Given the description of an element on the screen output the (x, y) to click on. 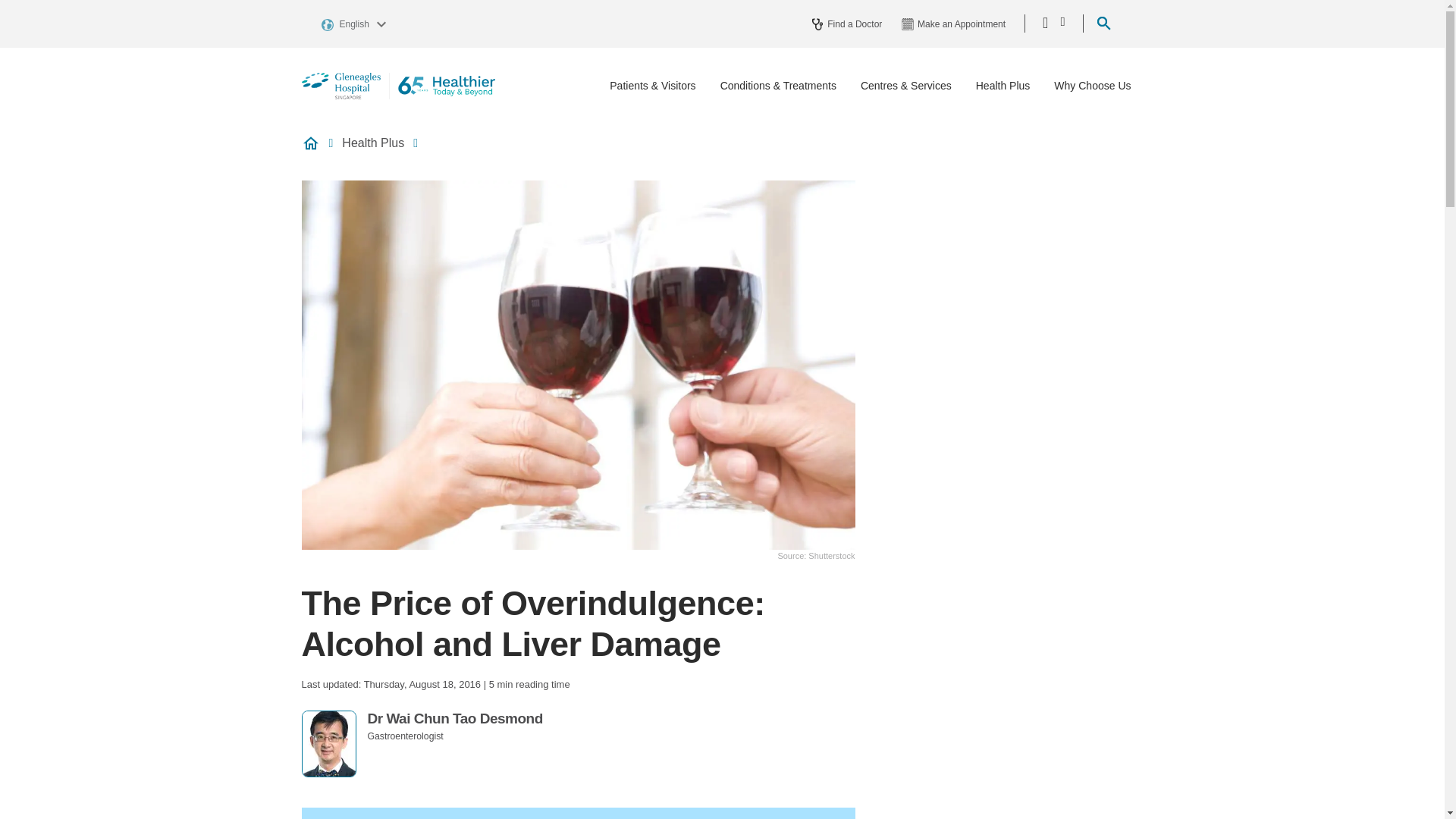
English (355, 23)
Health Plus (1002, 86)
Why Choose Us (1092, 86)
